Given the description of an element on the screen output the (x, y) to click on. 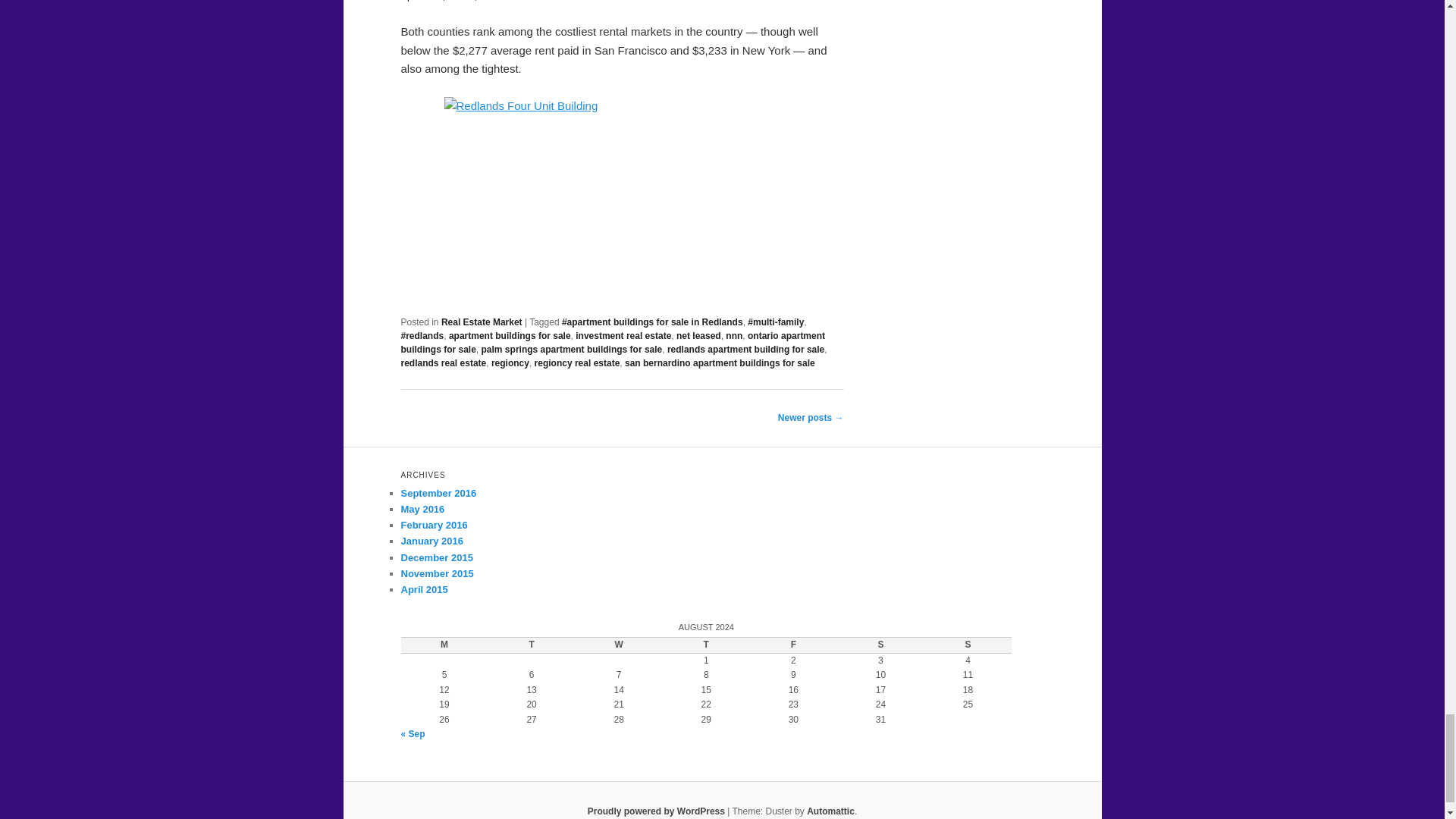
Tuesday (531, 645)
Thursday (705, 645)
Monday (443, 645)
Friday (793, 645)
Redlands Apartment Buildings For Sale (621, 197)
Wednesday (618, 645)
